Given the description of an element on the screen output the (x, y) to click on. 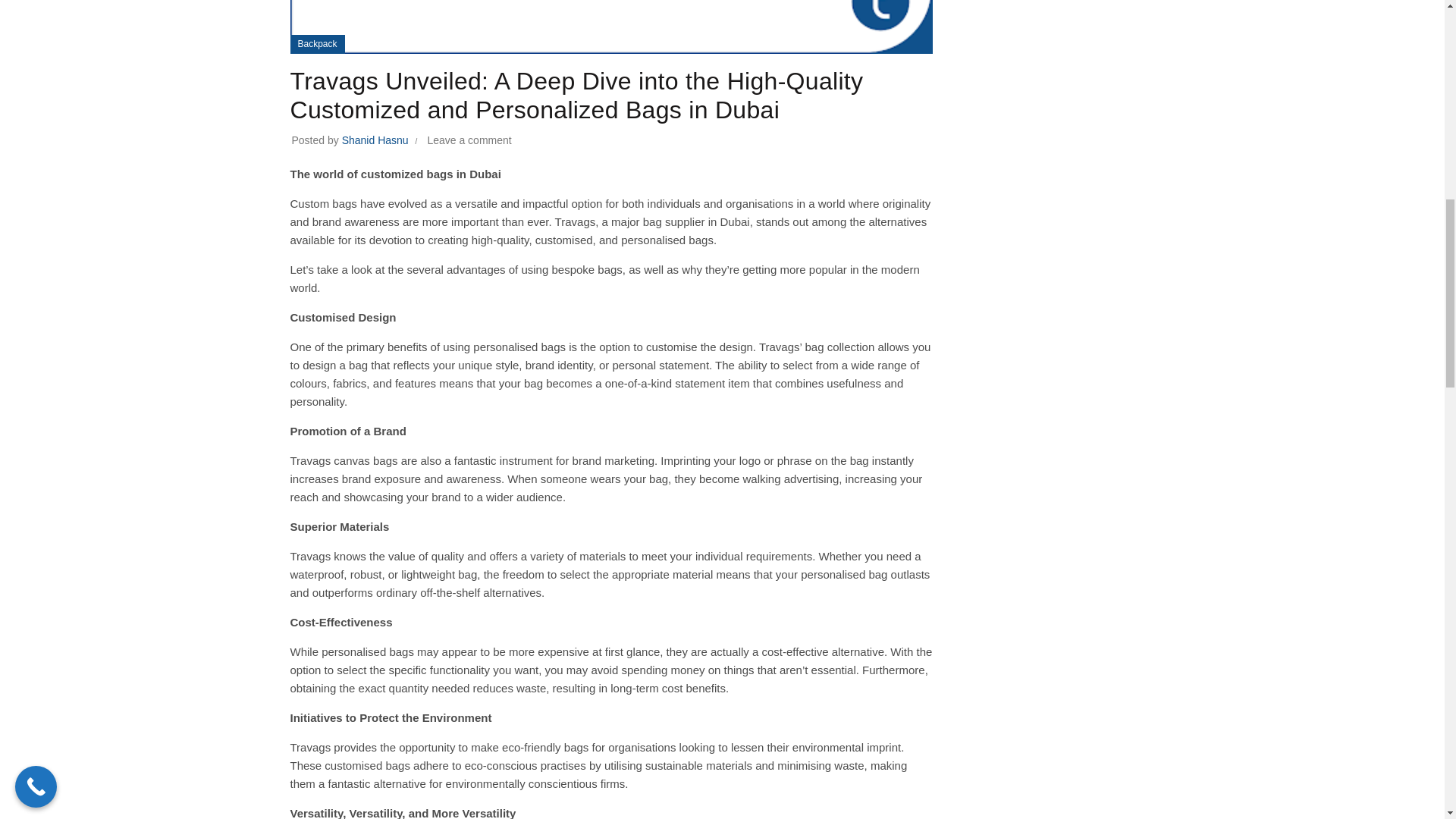
Leave a comment (468, 140)
customised bags (367, 765)
bag supplier in Dubai, (697, 221)
Shanid Hasnu (377, 140)
Backpack (316, 44)
